Given the description of an element on the screen output the (x, y) to click on. 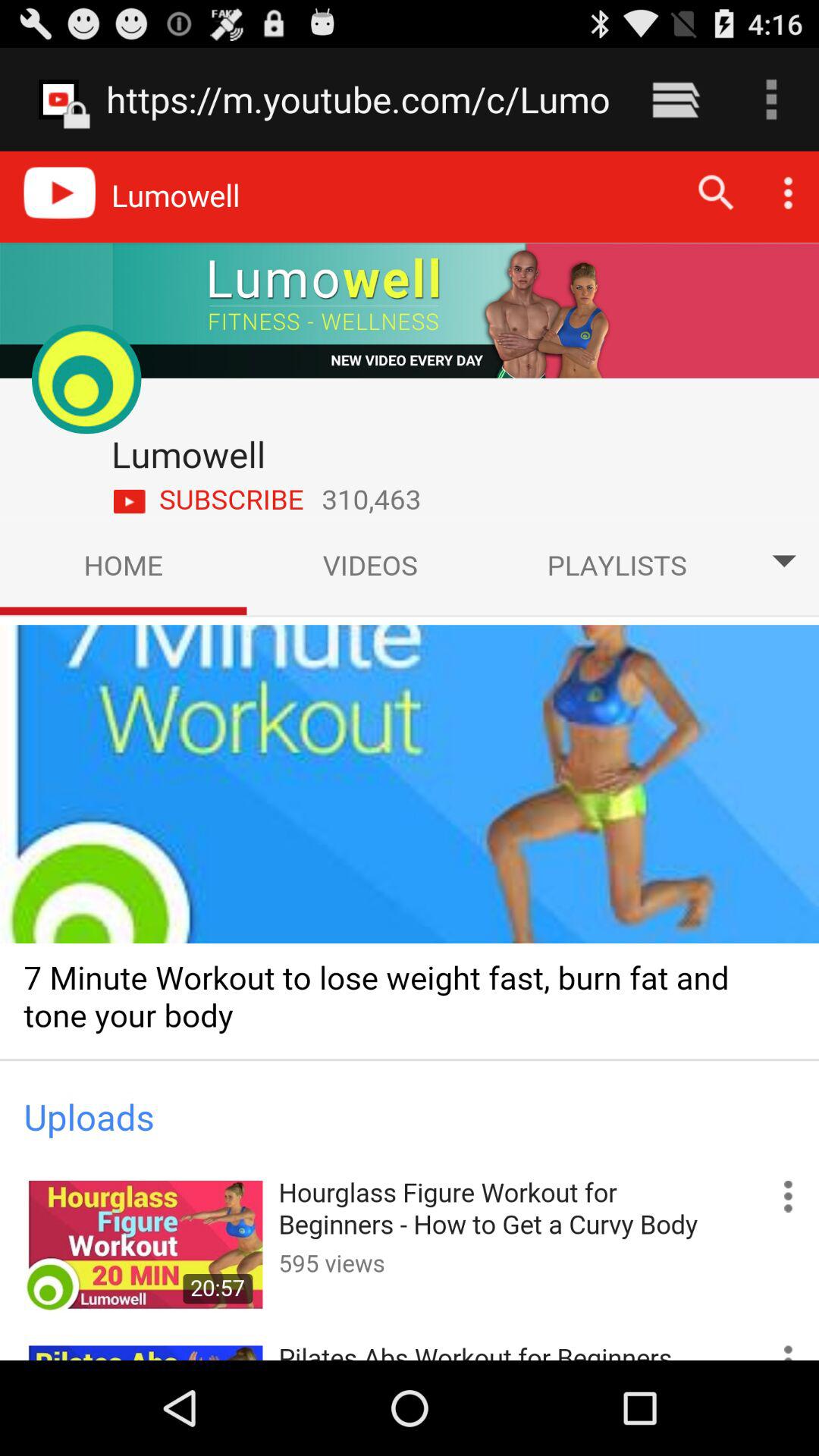
choose the icon to the right of the https m youtube item (675, 99)
